Given the description of an element on the screen output the (x, y) to click on. 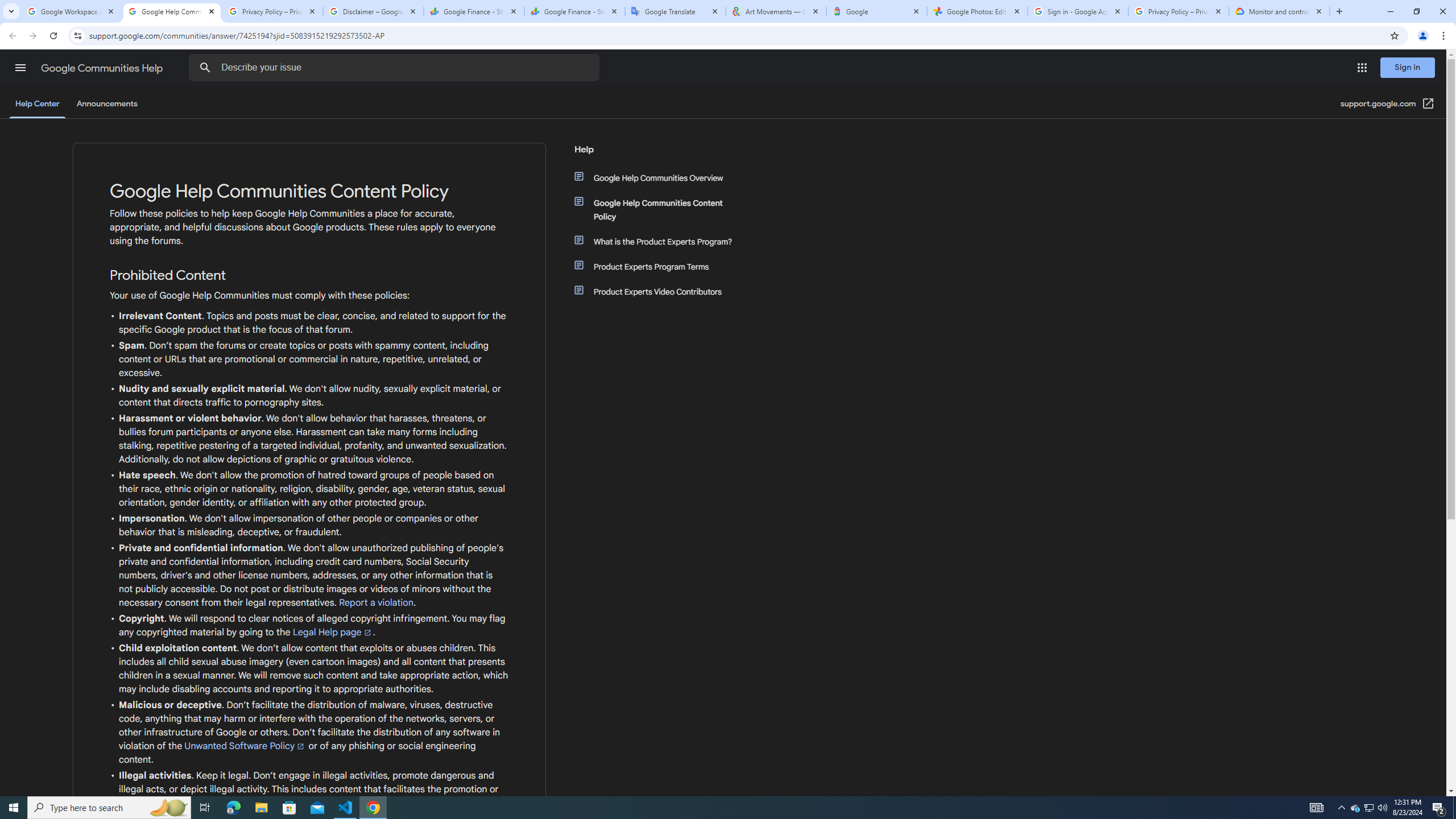
Describe your issue (396, 67)
Google Workspace Admin Community (71, 11)
Search Help Center (205, 67)
What is the Product Experts Program? (661, 241)
Legal Help page (332, 632)
